Given the description of an element on the screen output the (x, y) to click on. 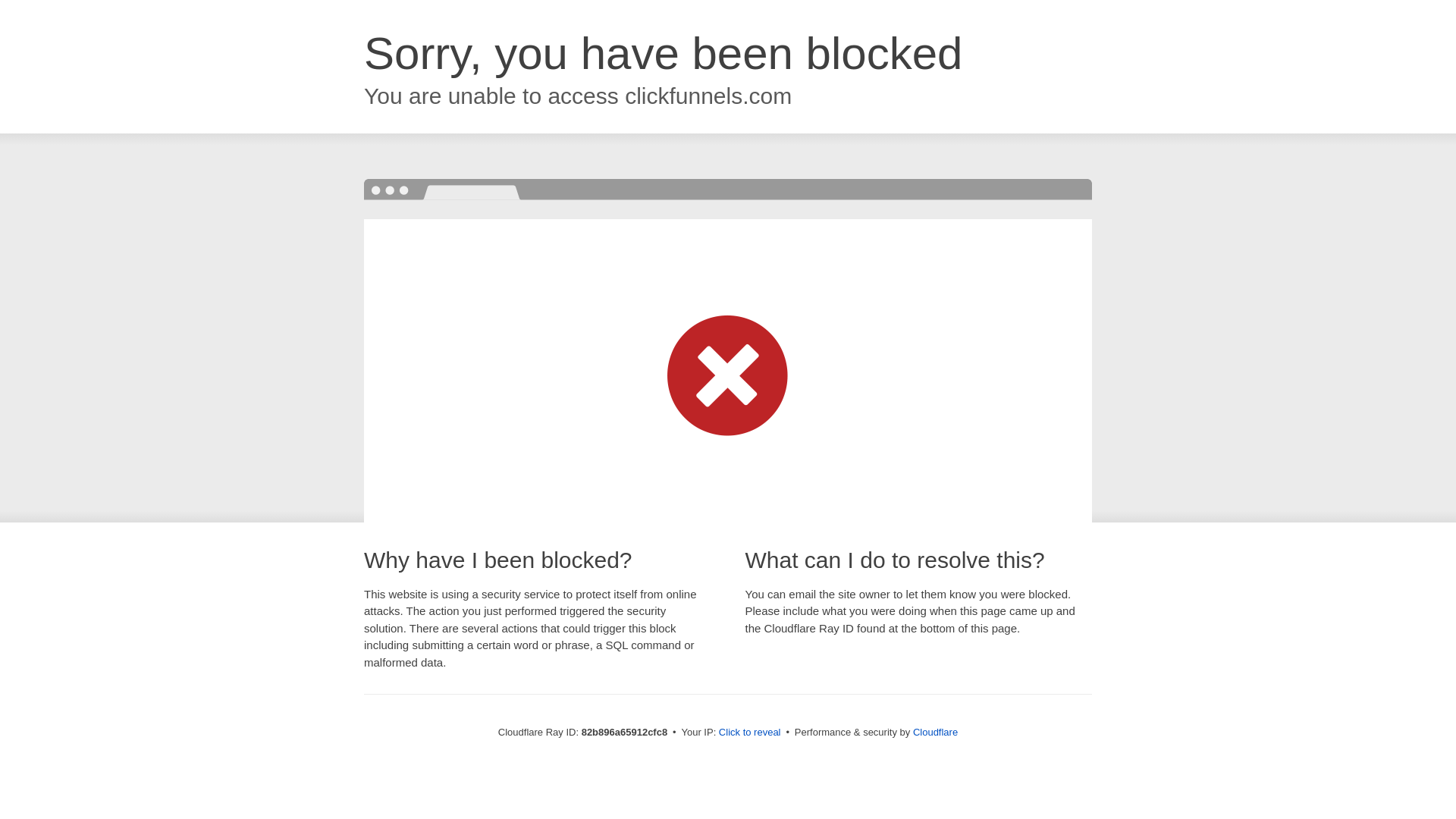
Click to reveal Element type: text (749, 732)
Cloudflare Element type: text (935, 731)
